Given the description of an element on the screen output the (x, y) to click on. 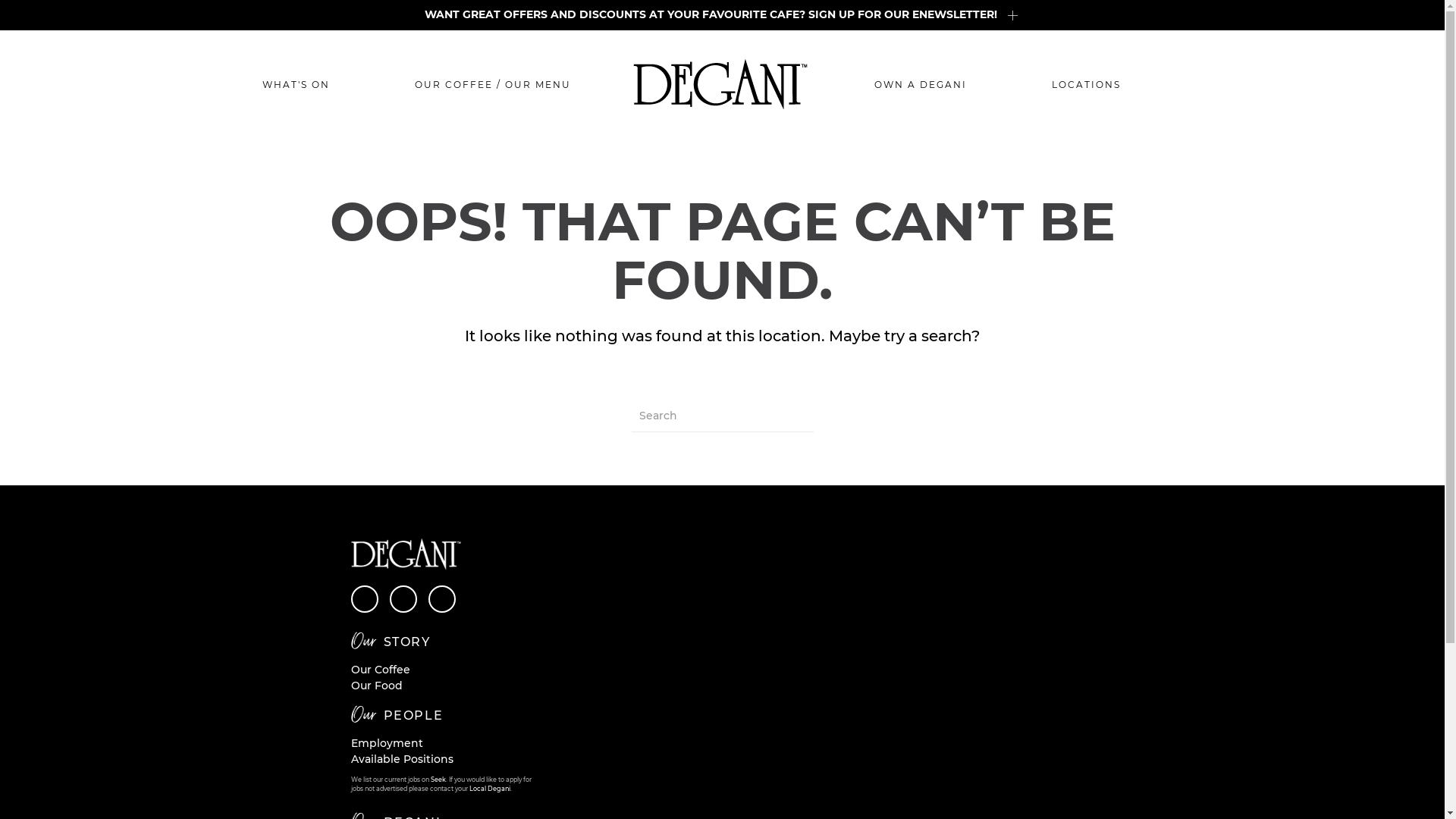
LOCATIONS Element type: text (1085, 84)
WHAT'S ON Element type: text (295, 84)
Available Positions Element type: text (401, 758)
OUR COFFEE / OUR MENU Element type: text (492, 84)
Local Degani Element type: text (488, 788)
Seek Element type: text (437, 779)
Employment Element type: text (386, 742)
Our Coffee Element type: text (379, 669)
Our Food Element type: text (375, 685)
OWN A DEGANI Element type: text (919, 84)
